Given the description of an element on the screen output the (x, y) to click on. 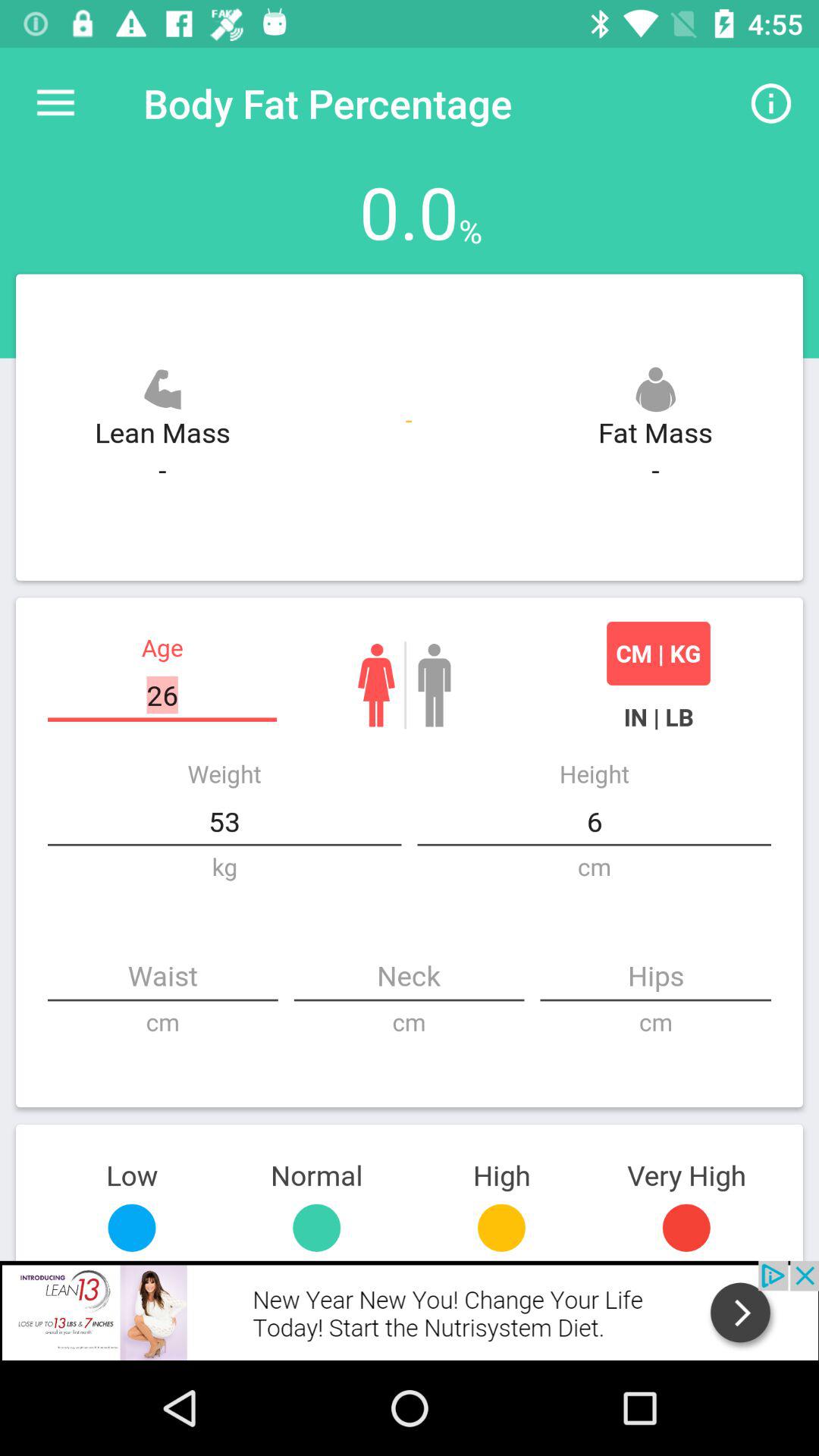
click on text neck (408, 976)
click on she button (376, 685)
choose the icon above lean mass (162, 389)
click on button left to yellow button (316, 1228)
